Given the description of an element on the screen output the (x, y) to click on. 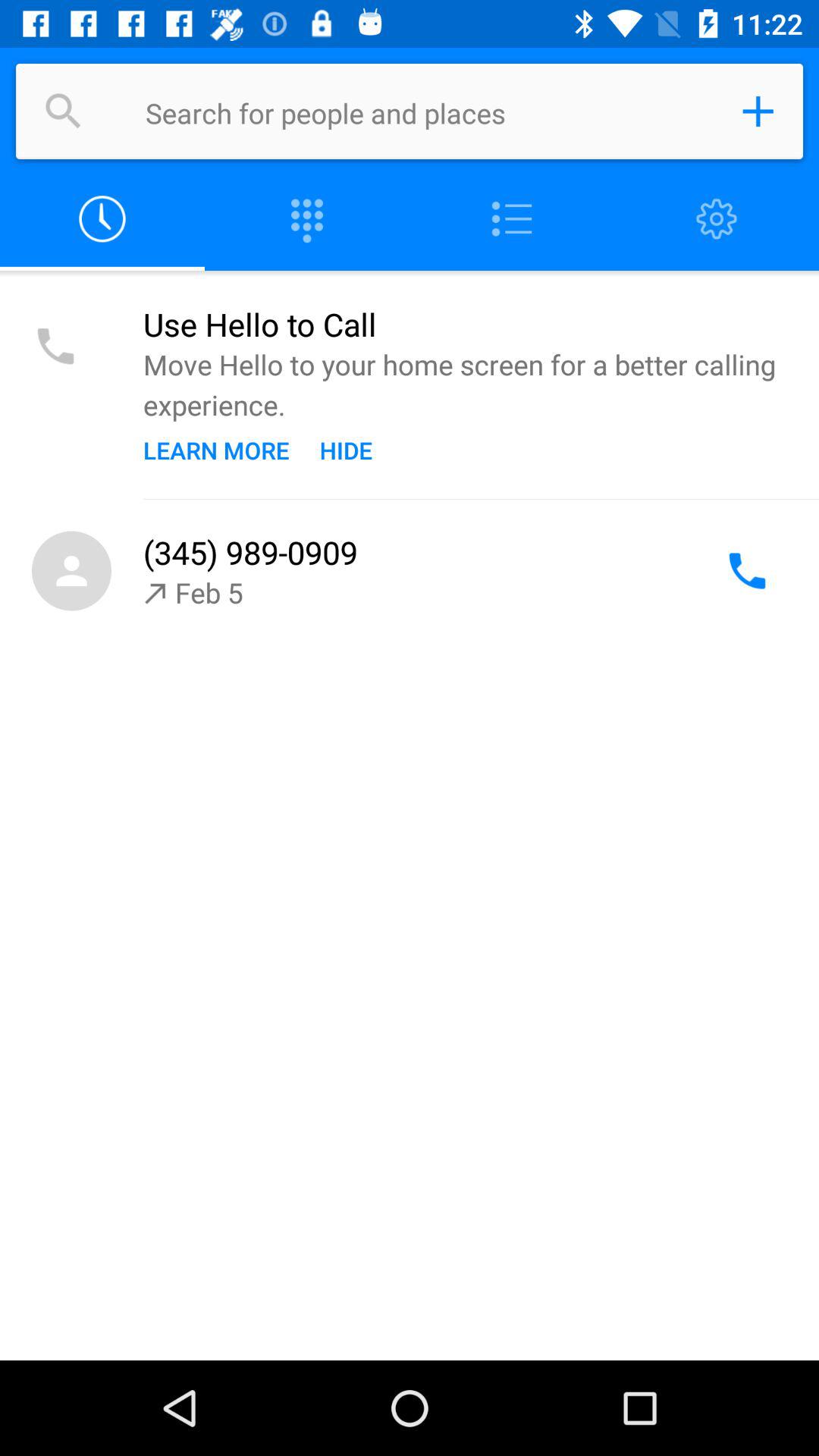
search for people and places (63, 111)
